Given the description of an element on the screen output the (x, y) to click on. 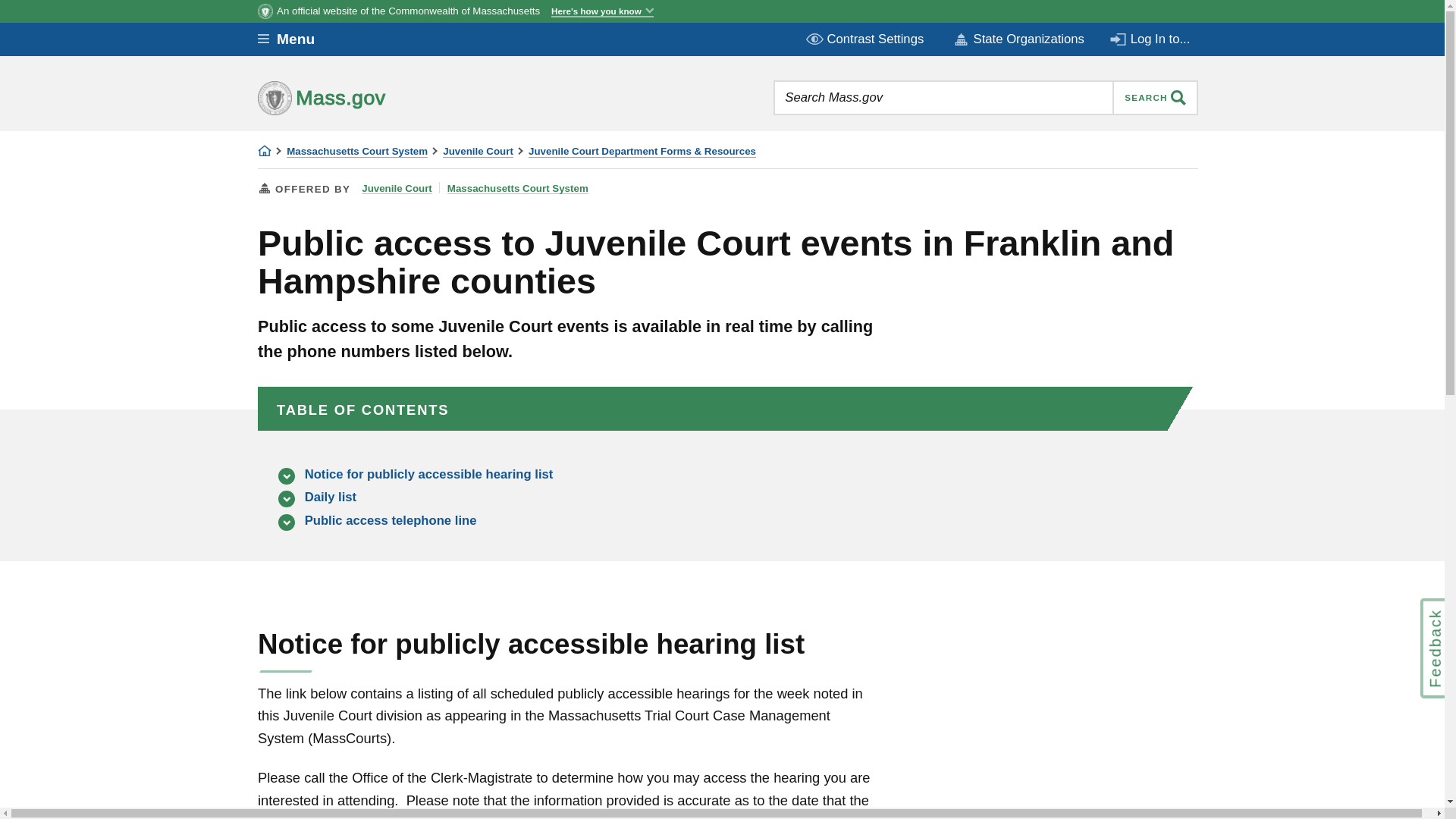
Log In to... (1151, 38)
State Organizations (1018, 39)
Mass.gov home page (369, 97)
Contrast Settings (866, 38)
Menu (297, 39)
